Given the description of an element on the screen output the (x, y) to click on. 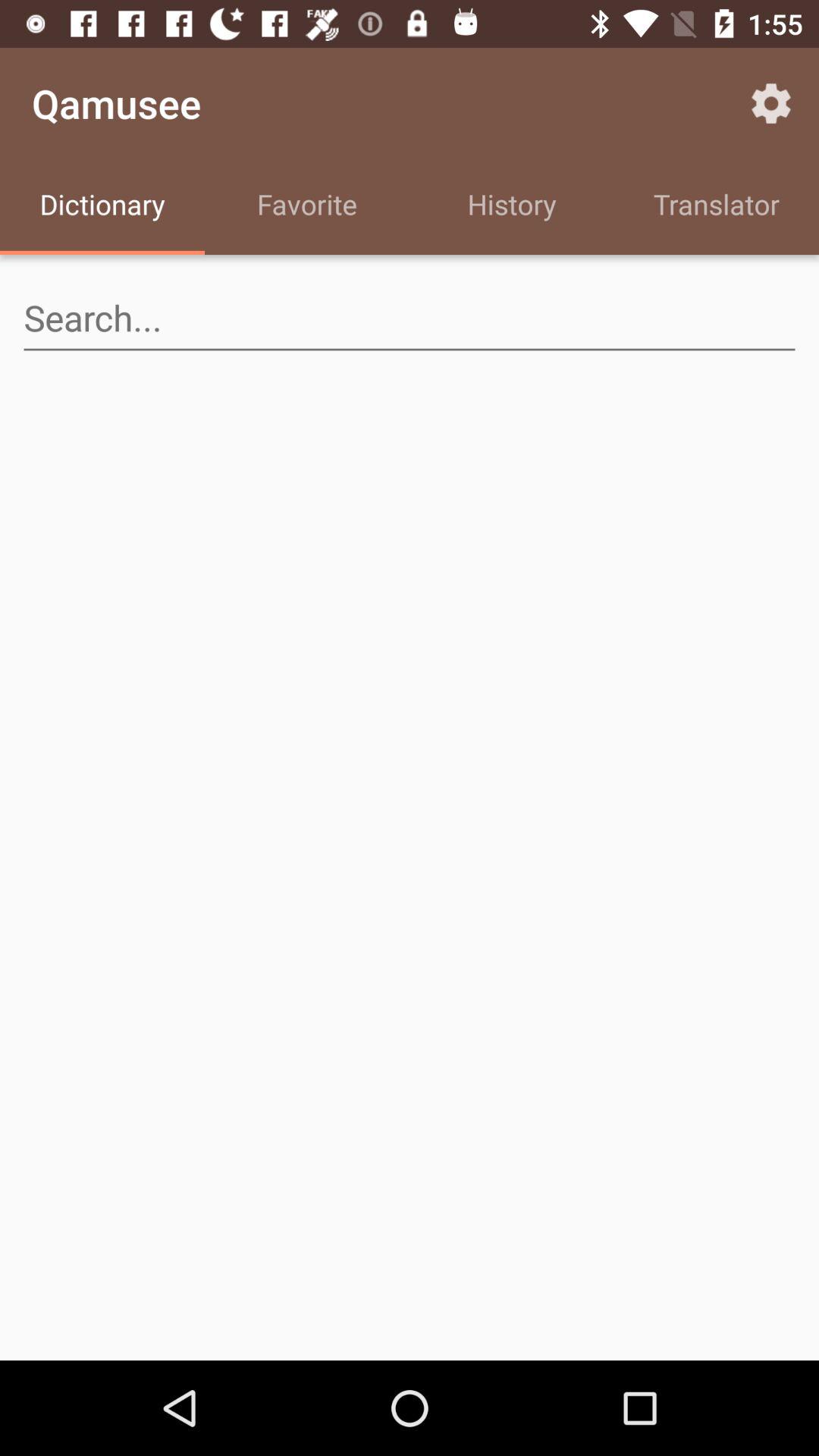
turn on the history (511, 206)
